Given the description of an element on the screen output the (x, y) to click on. 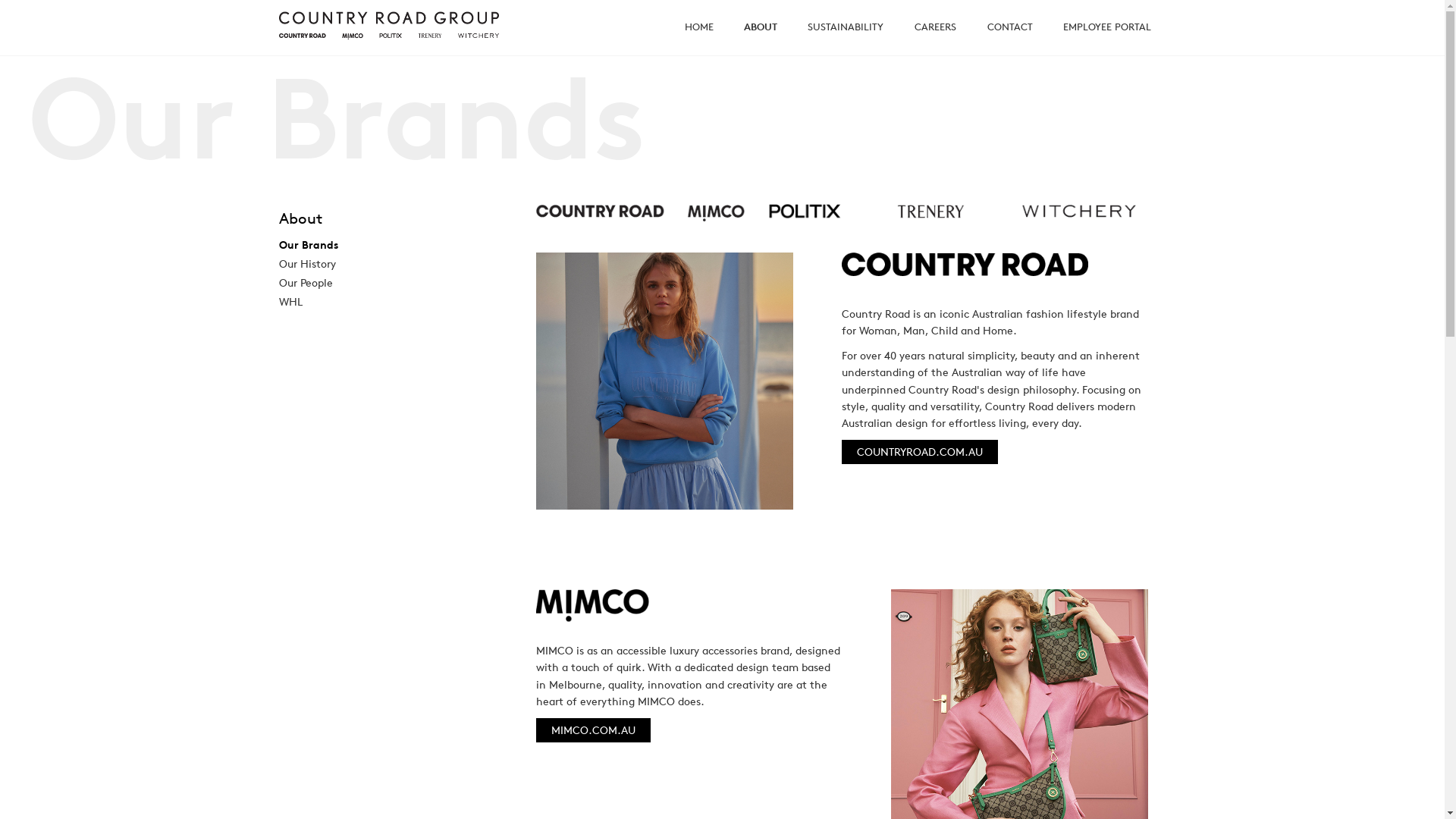
SUSTAINABILITY Element type: text (844, 26)
Our Brands Element type: text (308, 244)
Our History Element type: text (307, 263)
CONTACT Element type: text (1010, 26)
COUNTRYROAD.COM.AU Element type: text (919, 451)
HOME Element type: text (698, 26)
WHL Element type: text (290, 300)
Our People Element type: text (305, 282)
About Element type: text (390, 220)
Country Road Group Element type: hover (388, 25)
MIMCO.COM.AU Element type: text (593, 730)
ABOUT Element type: text (759, 26)
CAREERS Element type: text (934, 26)
